Given the description of an element on the screen output the (x, y) to click on. 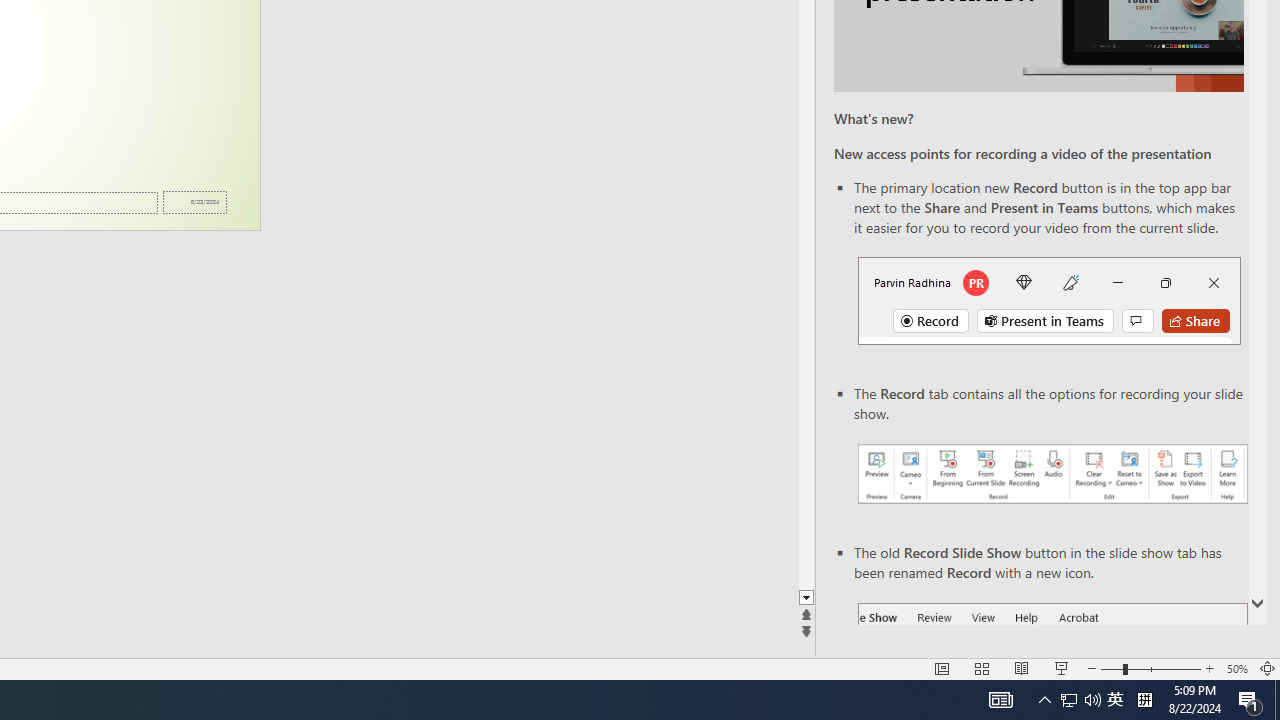
Slide Sorter (982, 668)
Date (194, 201)
Line down (806, 597)
Zoom Out (1111, 668)
Zoom to Fit  (1267, 668)
Record your presentations screenshot one (1052, 473)
Zoom 50% (1236, 668)
Record button in top bar (1049, 300)
Zoom In (1209, 668)
Slide Show (1061, 668)
Normal (941, 668)
Reading View (1021, 668)
Zoom (1150, 668)
